Given the description of an element on the screen output the (x, y) to click on. 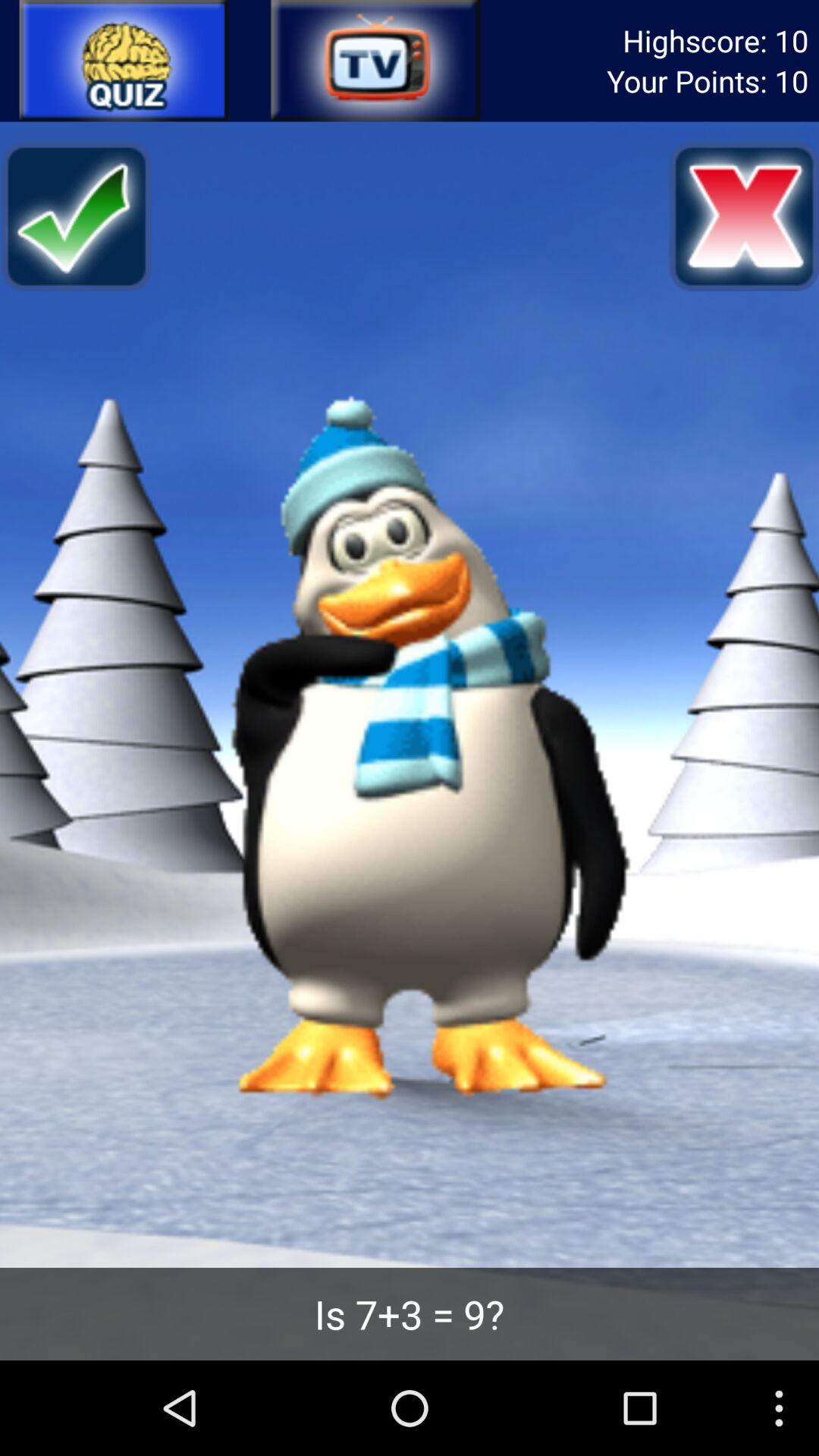
quiz (124, 60)
